Given the description of an element on the screen output the (x, y) to click on. 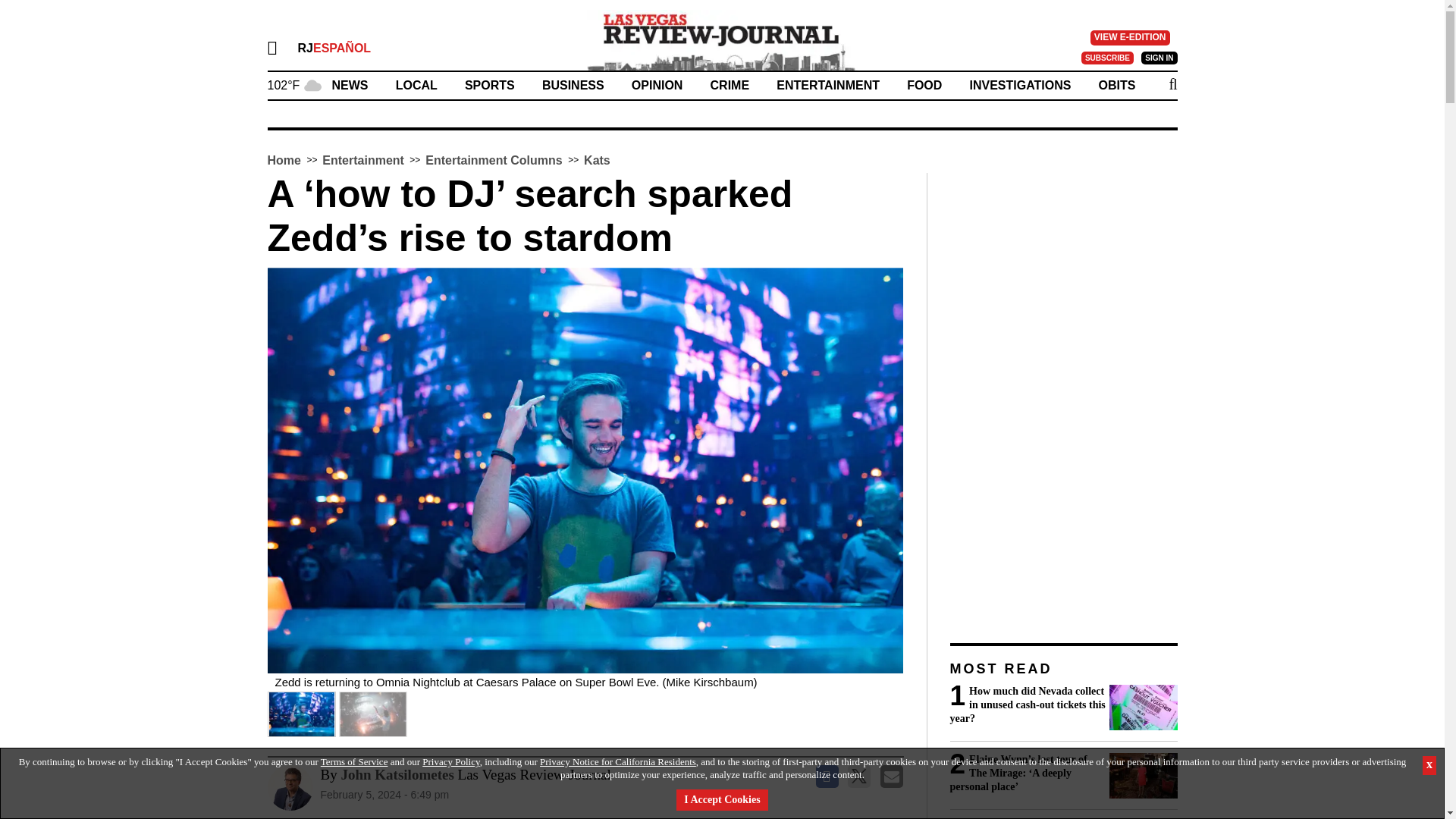
SPORTS (489, 84)
LOCAL (417, 84)
FOOD (924, 84)
ENTERTAINMENT (827, 84)
CRIME (729, 84)
BUSINESS (572, 84)
VIEW E-EDITION (1130, 37)
OPINION (656, 84)
Las Vegas News (721, 39)
OBITS (1117, 84)
SIGN IN (1158, 58)
SUBSCRIBE (1107, 58)
search icon (1172, 84)
NEWS (349, 84)
Weather Forecast (293, 83)
